Given the description of an element on the screen output the (x, y) to click on. 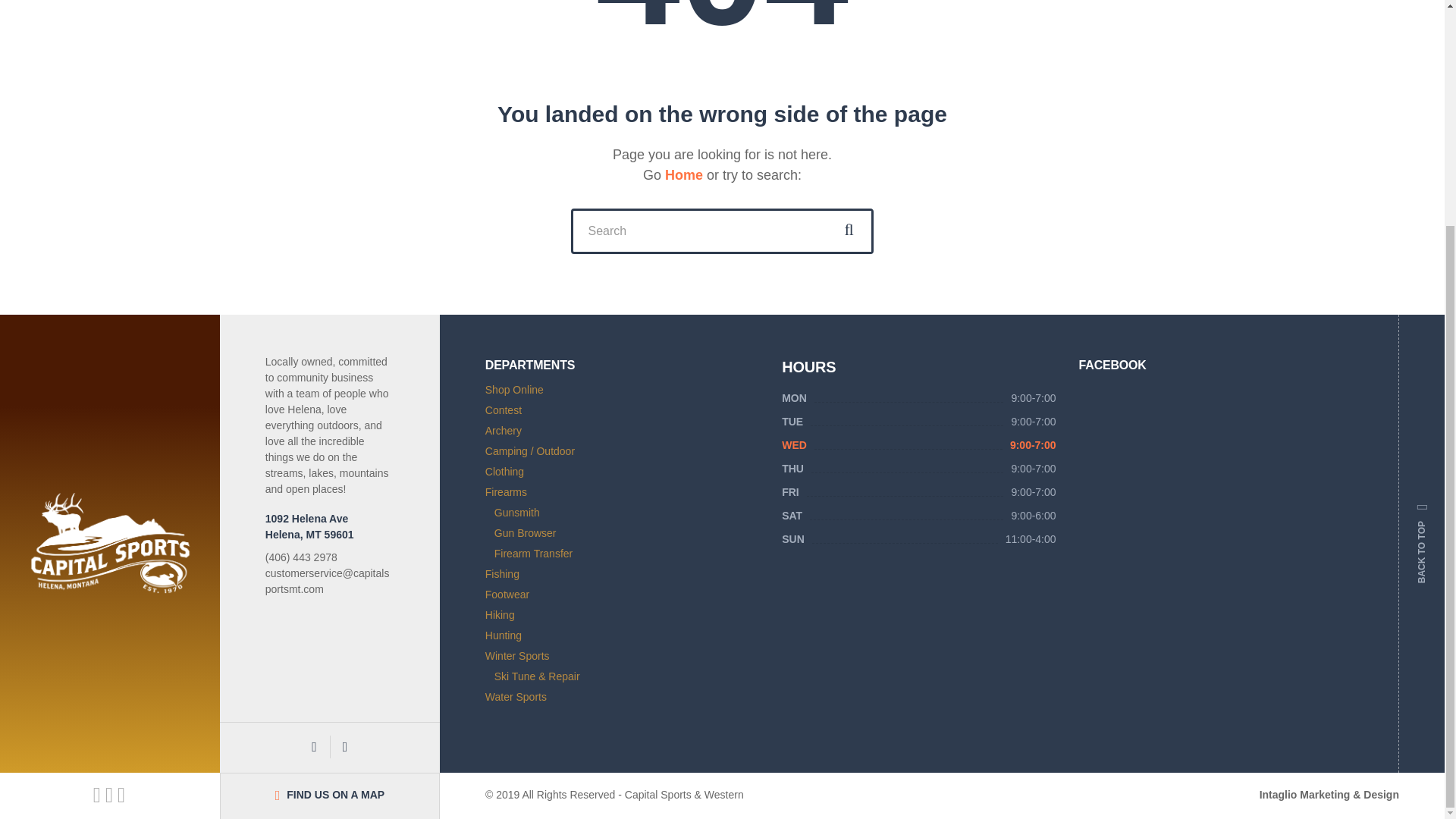
Home (684, 174)
